Given the description of an element on the screen output the (x, y) to click on. 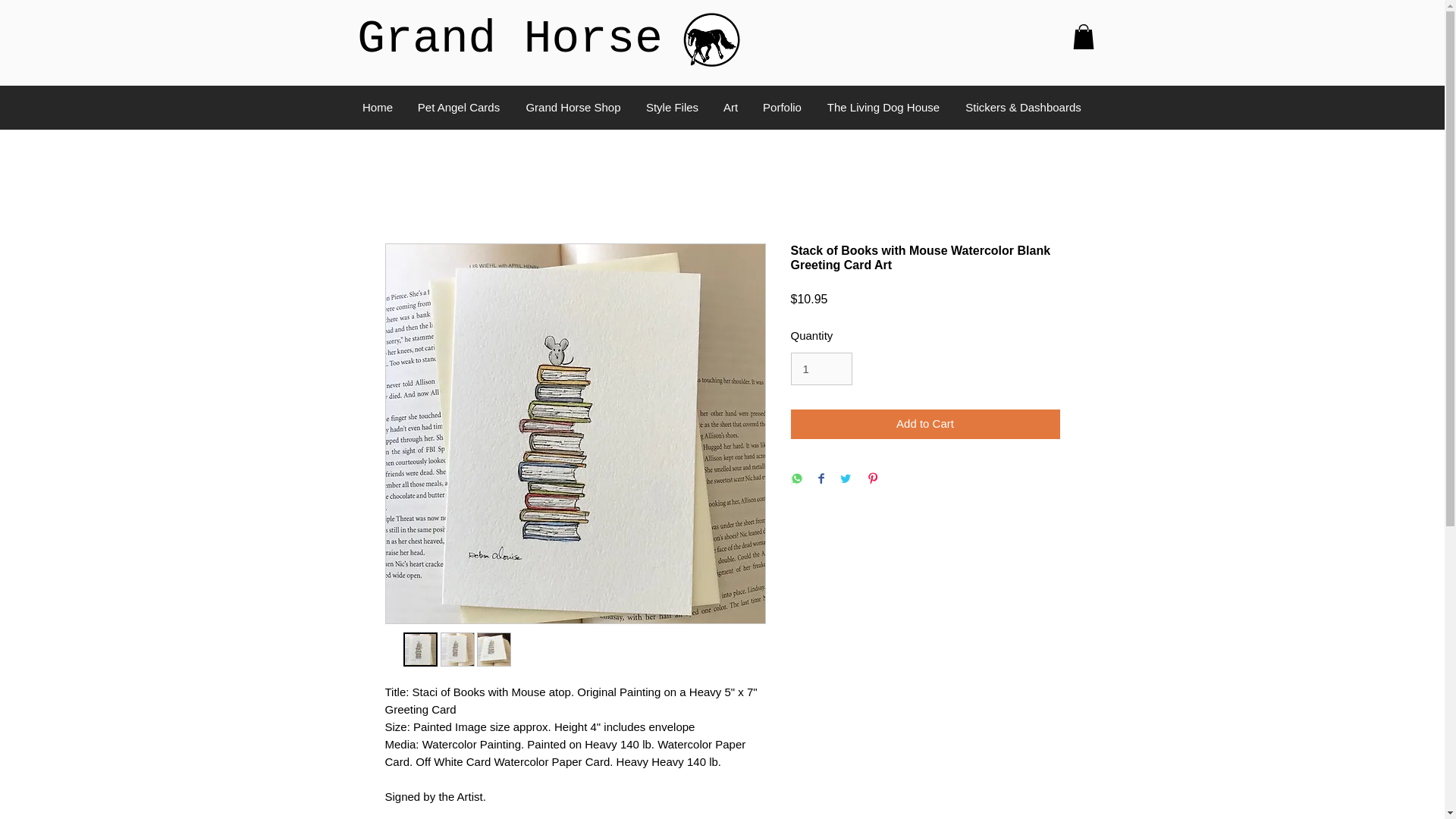
Grand Horse (509, 39)
Art (731, 107)
Grand Horse Shop (572, 107)
Home (377, 107)
Style Files (672, 107)
54C23A77-76B1-4639-94AD-E1DA9A34F22E.png (710, 41)
Pet Angel Cards (458, 107)
1 (820, 368)
